Given the description of an element on the screen output the (x, y) to click on. 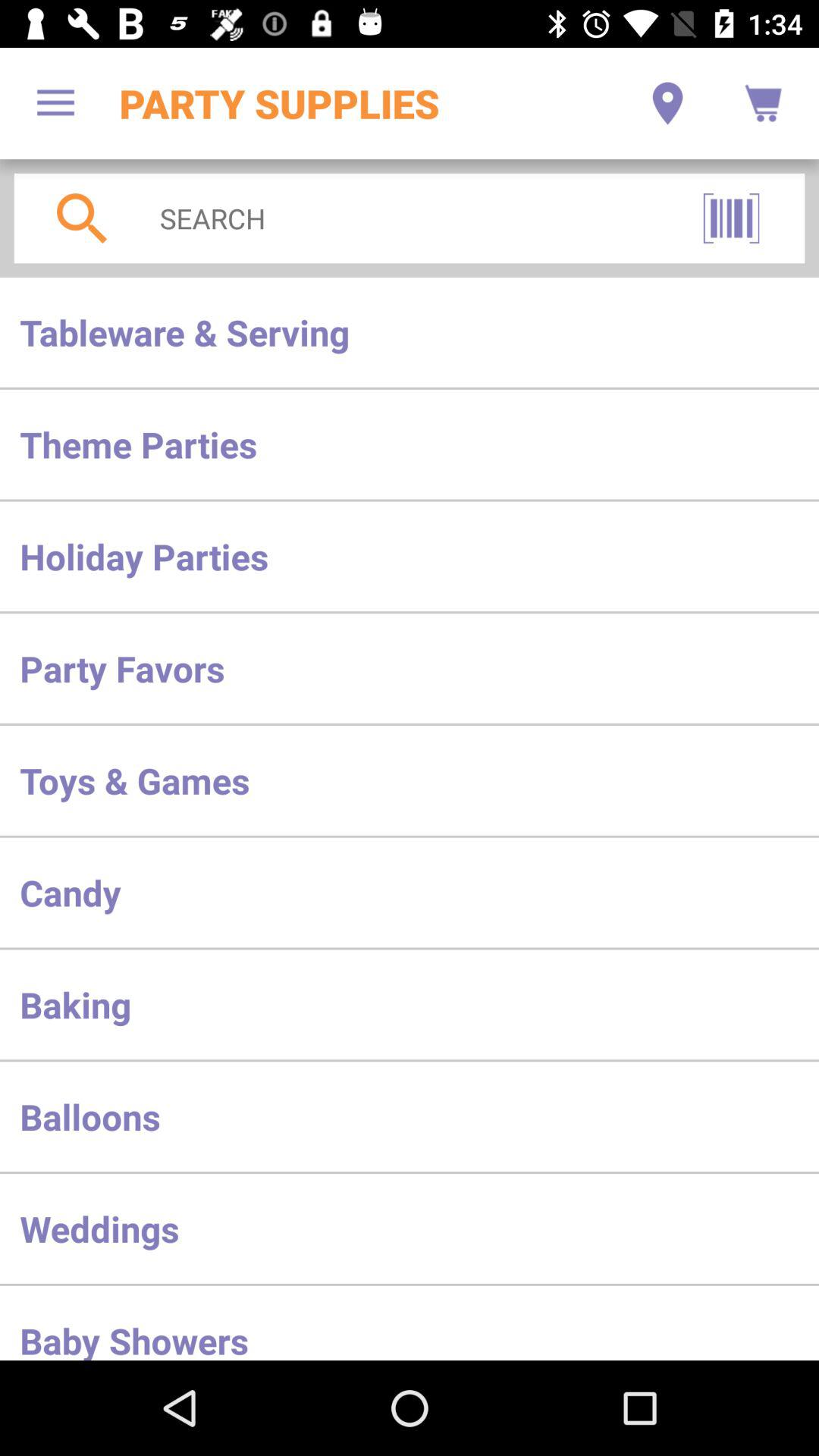
jump until the theme parties item (409, 444)
